Given the description of an element on the screen output the (x, y) to click on. 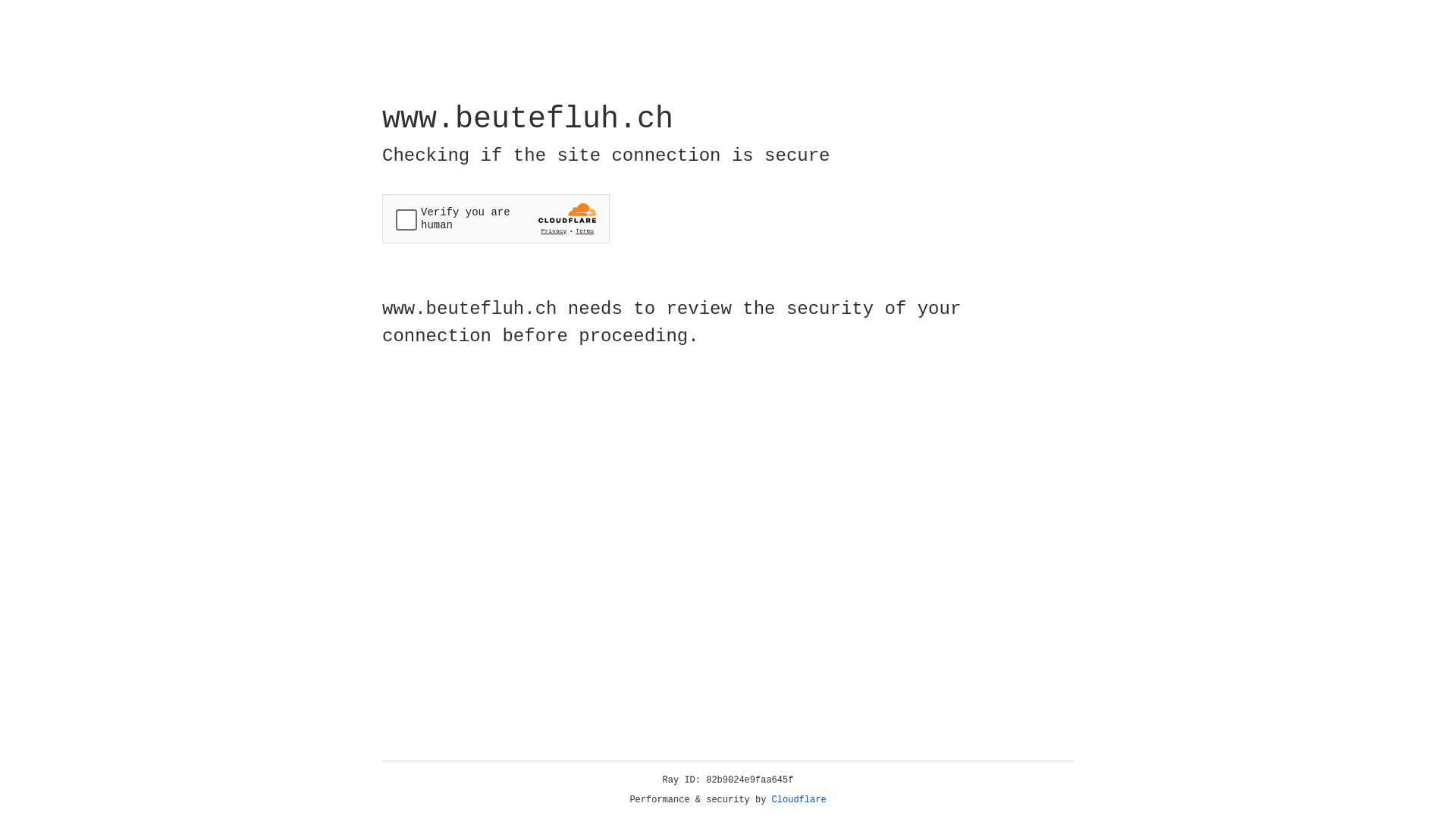
Widget containing a Cloudflare security challenge Element type: hover (495, 218)
Cloudflare Element type: text (798, 799)
